Given the description of an element on the screen output the (x, y) to click on. 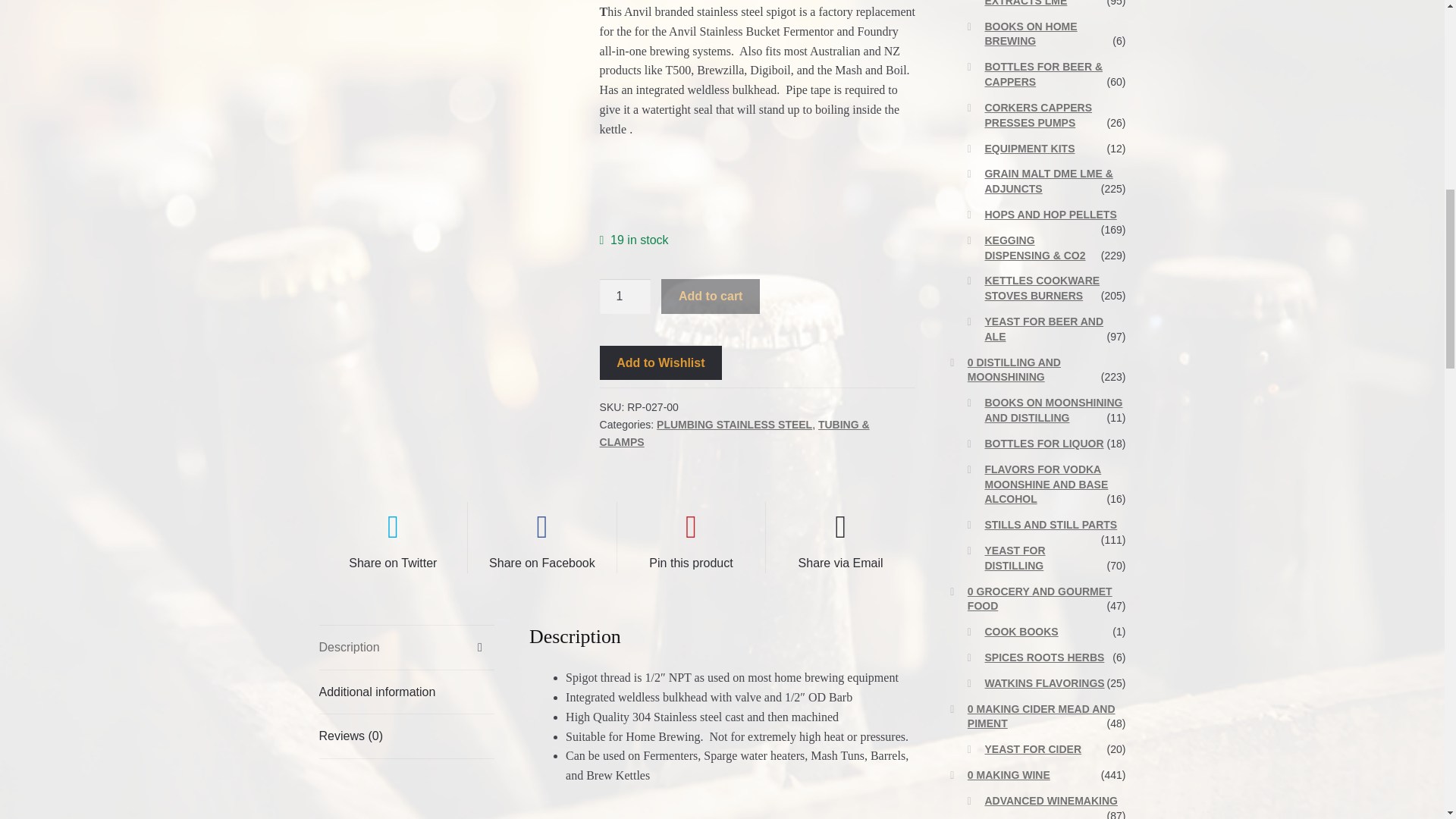
1 (624, 296)
Add to cart (710, 296)
Qty (624, 296)
Add to Wishlist (660, 362)
